Given the description of an element on the screen output the (x, y) to click on. 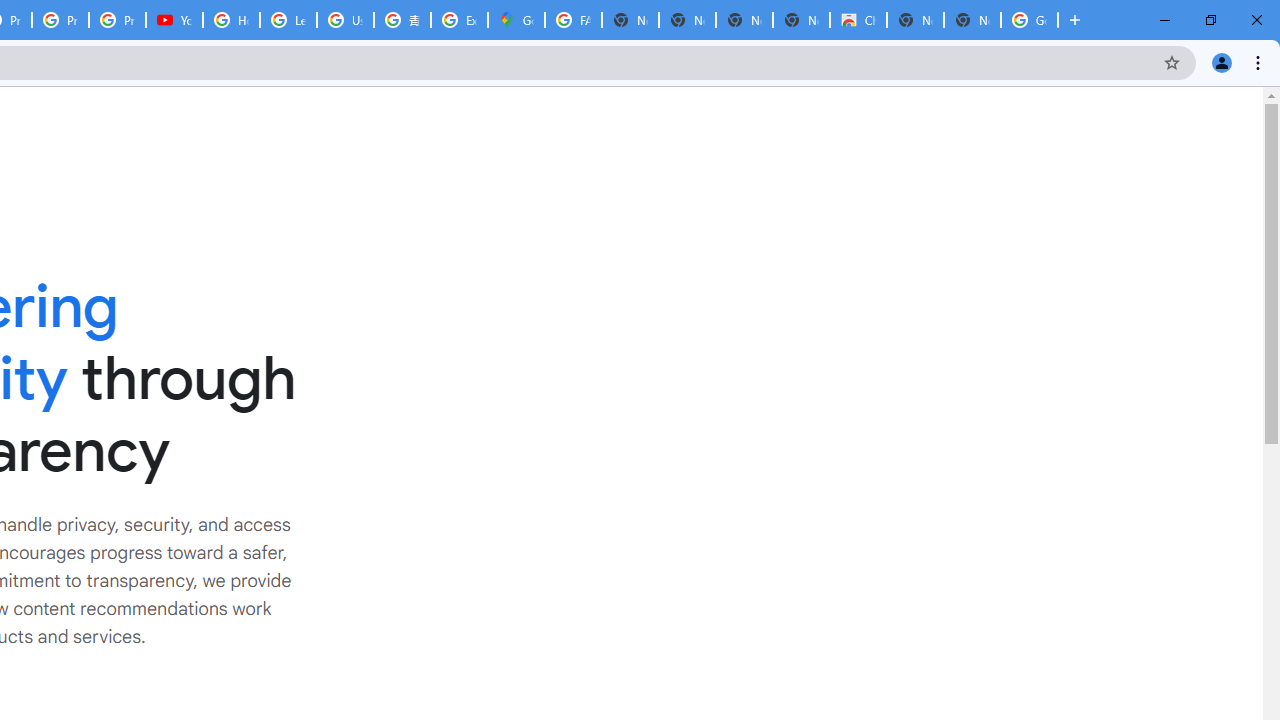
Google Images (1029, 20)
Chrome Web Store (858, 20)
New Tab (971, 20)
Privacy Checkup (116, 20)
YouTube (174, 20)
Privacy Checkup (60, 20)
How Chrome protects your passwords - Google Chrome Help (231, 20)
Explore new street-level details - Google Maps Help (459, 20)
